Given the description of an element on the screen output the (x, y) to click on. 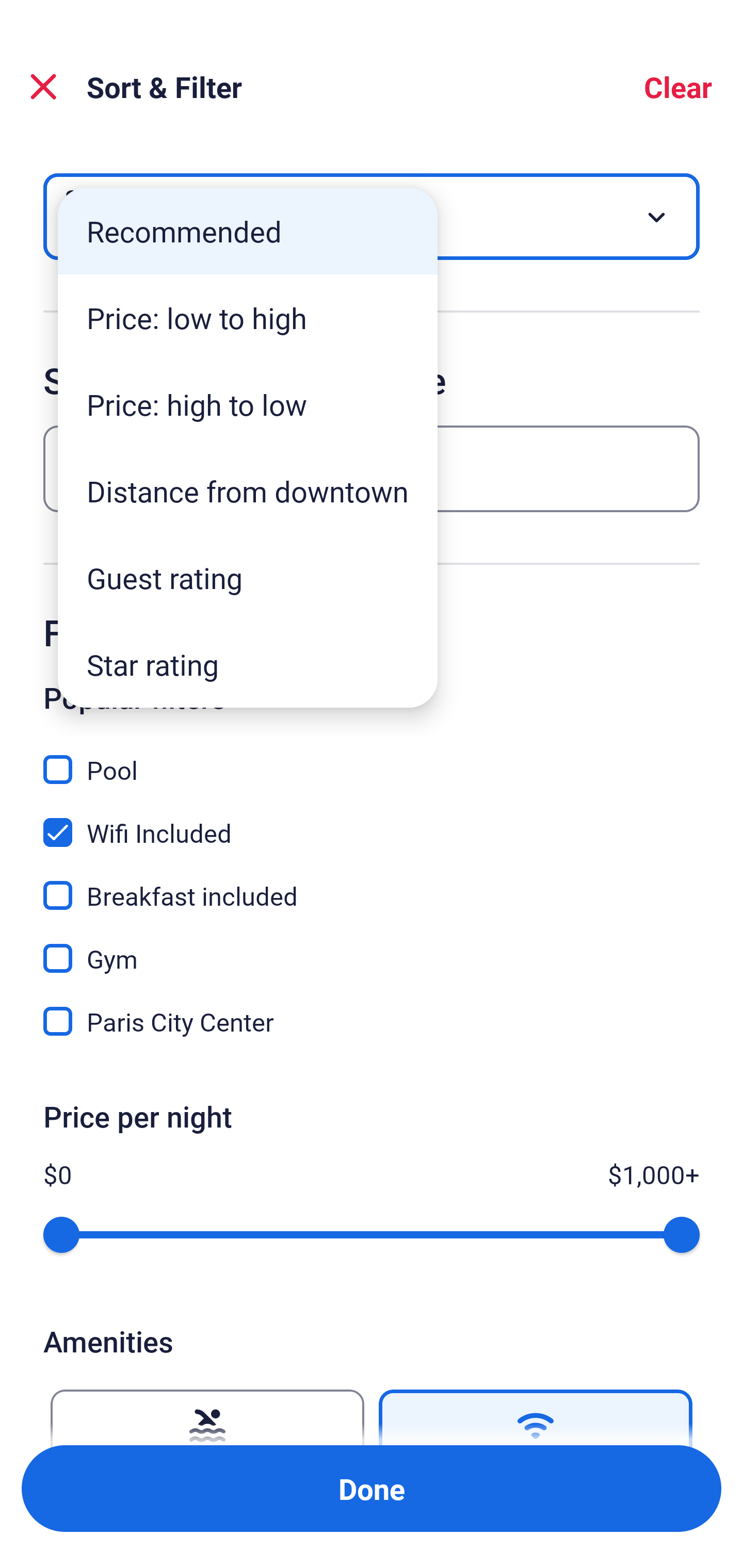
Price: low to high (247, 317)
Price: high to low (247, 404)
Distance from downtown (247, 491)
Guest rating (247, 577)
Star rating (247, 663)
